Given the description of an element on the screen output the (x, y) to click on. 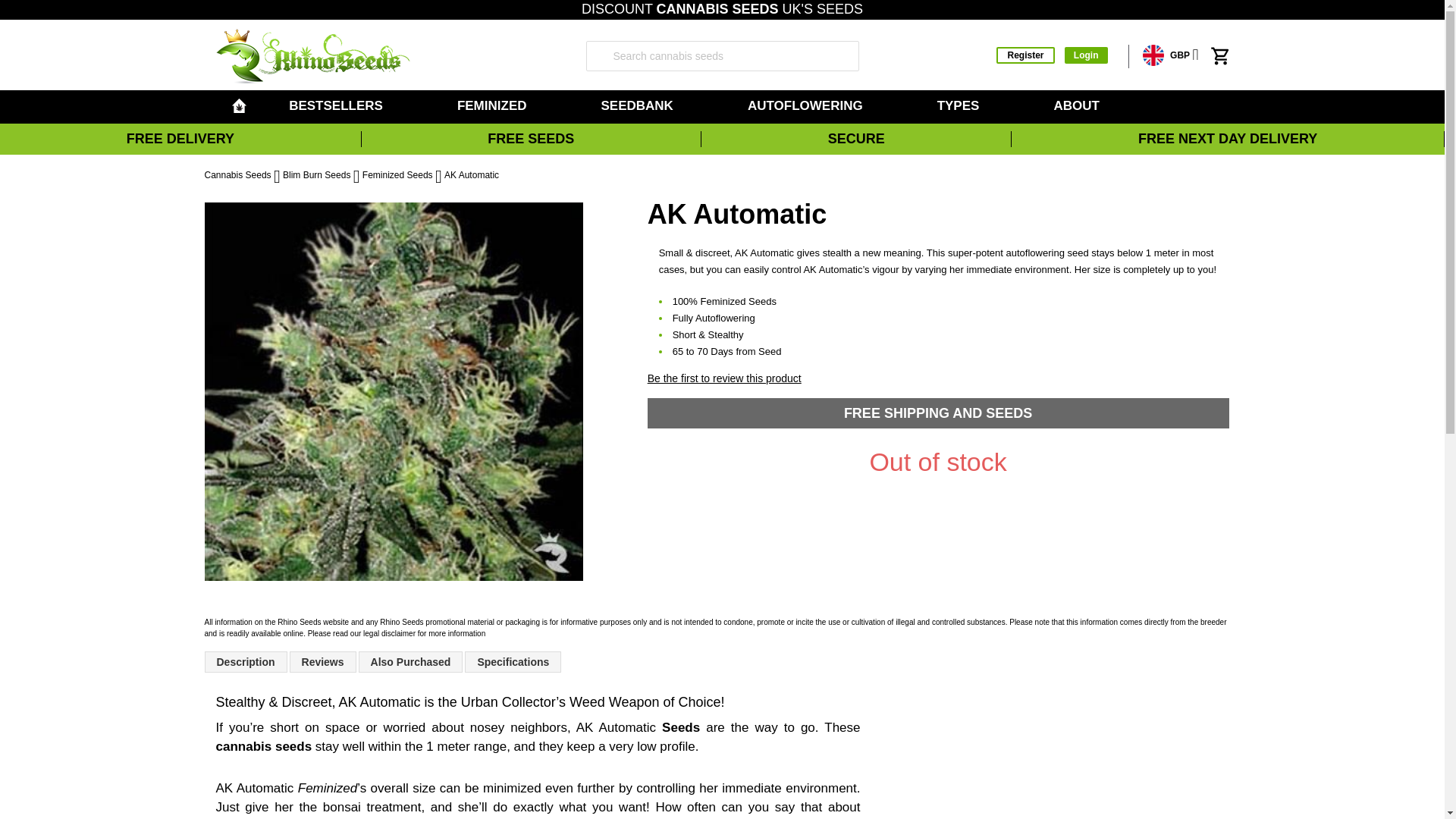
Register (1024, 54)
FEMINIZED (494, 106)
Best Selling Cannabis Seeds (338, 106)
Feminized Seeds (494, 106)
BESTSELLERS (338, 106)
home (238, 105)
SEEDBANK (639, 106)
Login (1086, 54)
